Given the description of an element on the screen output the (x, y) to click on. 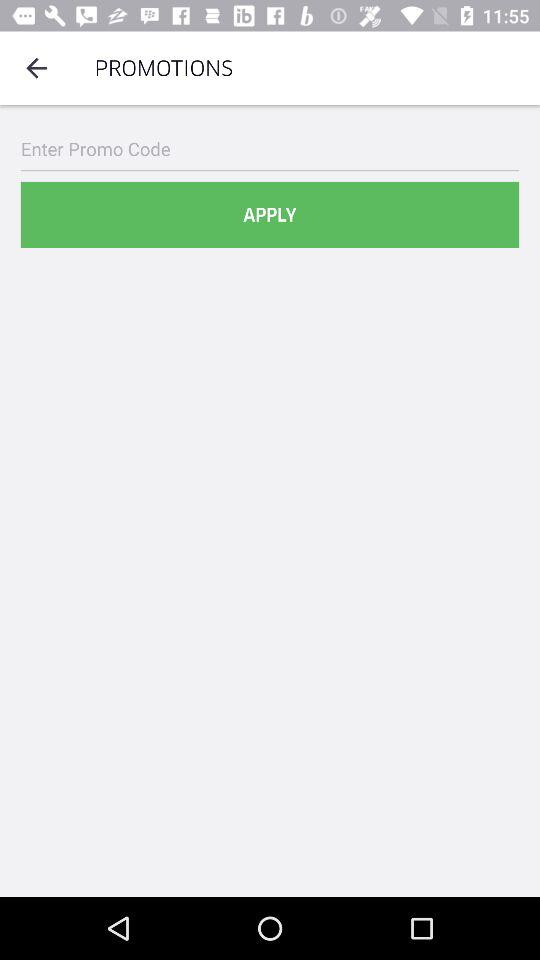
select icon next to promotions icon (36, 68)
